Given the description of an element on the screen output the (x, y) to click on. 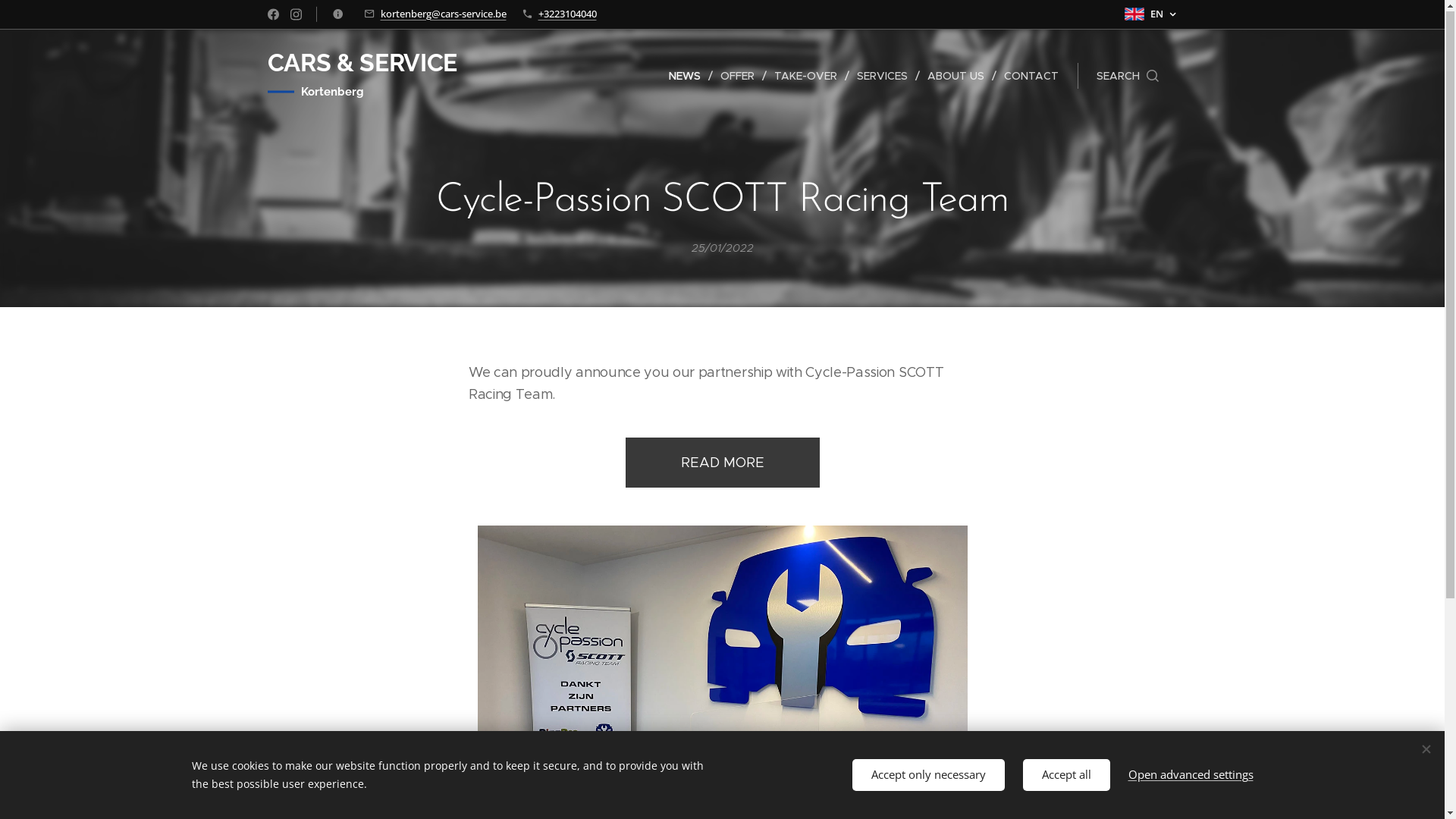
READ MORE Element type: text (721, 463)
Facebook Element type: hover (272, 15)
NEWS Element type: text (688, 76)
+3223104040 Element type: text (567, 14)
CARS & SERVICE Element type: text (362, 63)
SERVICES Element type: text (884, 76)
Open advanced settings Element type: text (1190, 774)
TAKE-OVER Element type: text (806, 76)
CONTACT Element type: text (1027, 76)
Accept only necessary Element type: text (928, 774)
OFFER Element type: text (739, 76)
Instagram Element type: hover (295, 15)
ABOUT US Element type: text (957, 76)
kortenberg@cars-service.be Element type: text (443, 14)
Accept all Element type: text (1065, 774)
